Given the description of an element on the screen output the (x, y) to click on. 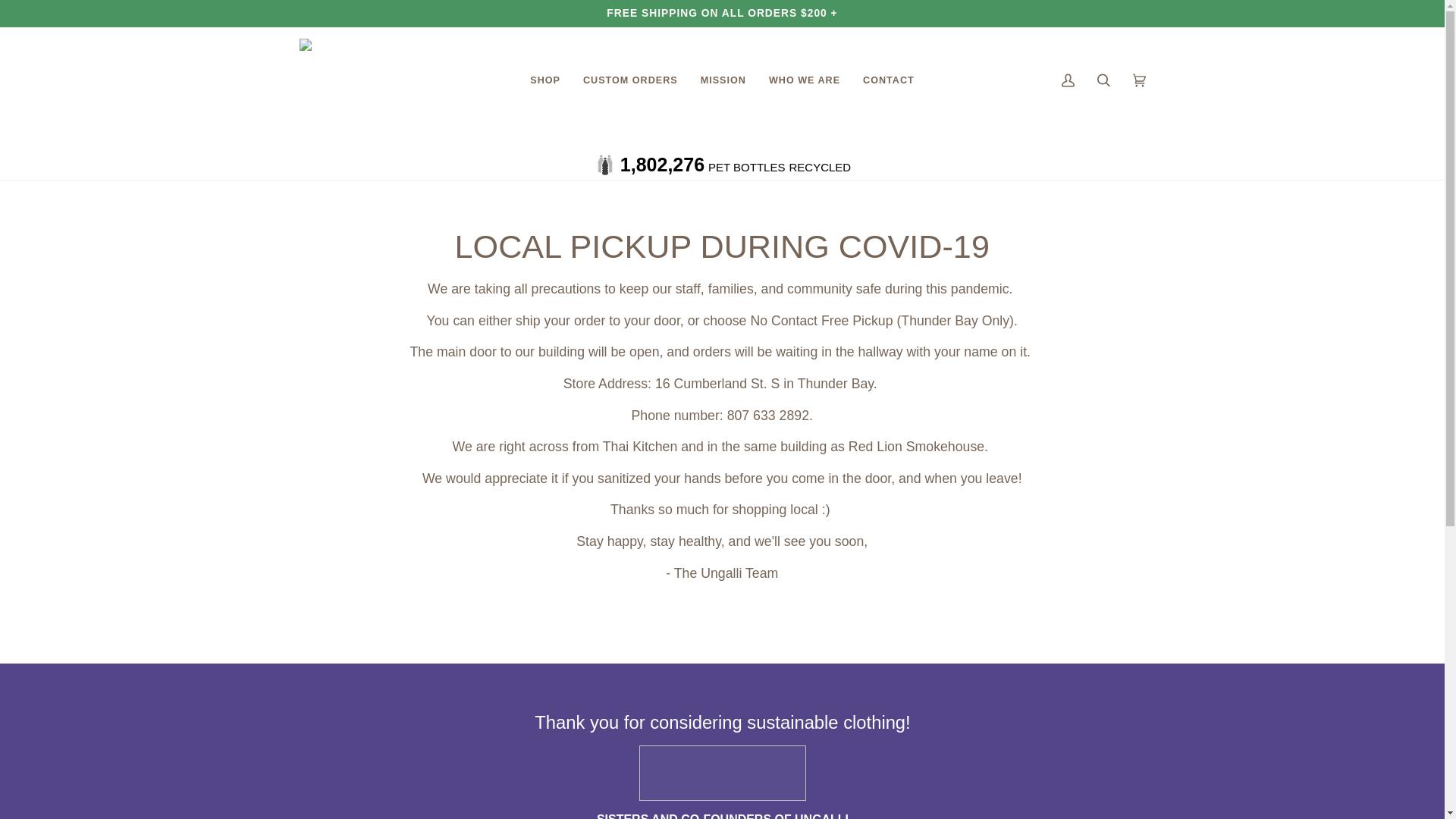
CUSTOM ORDERS (630, 80)
